Given the description of an element on the screen output the (x, y) to click on. 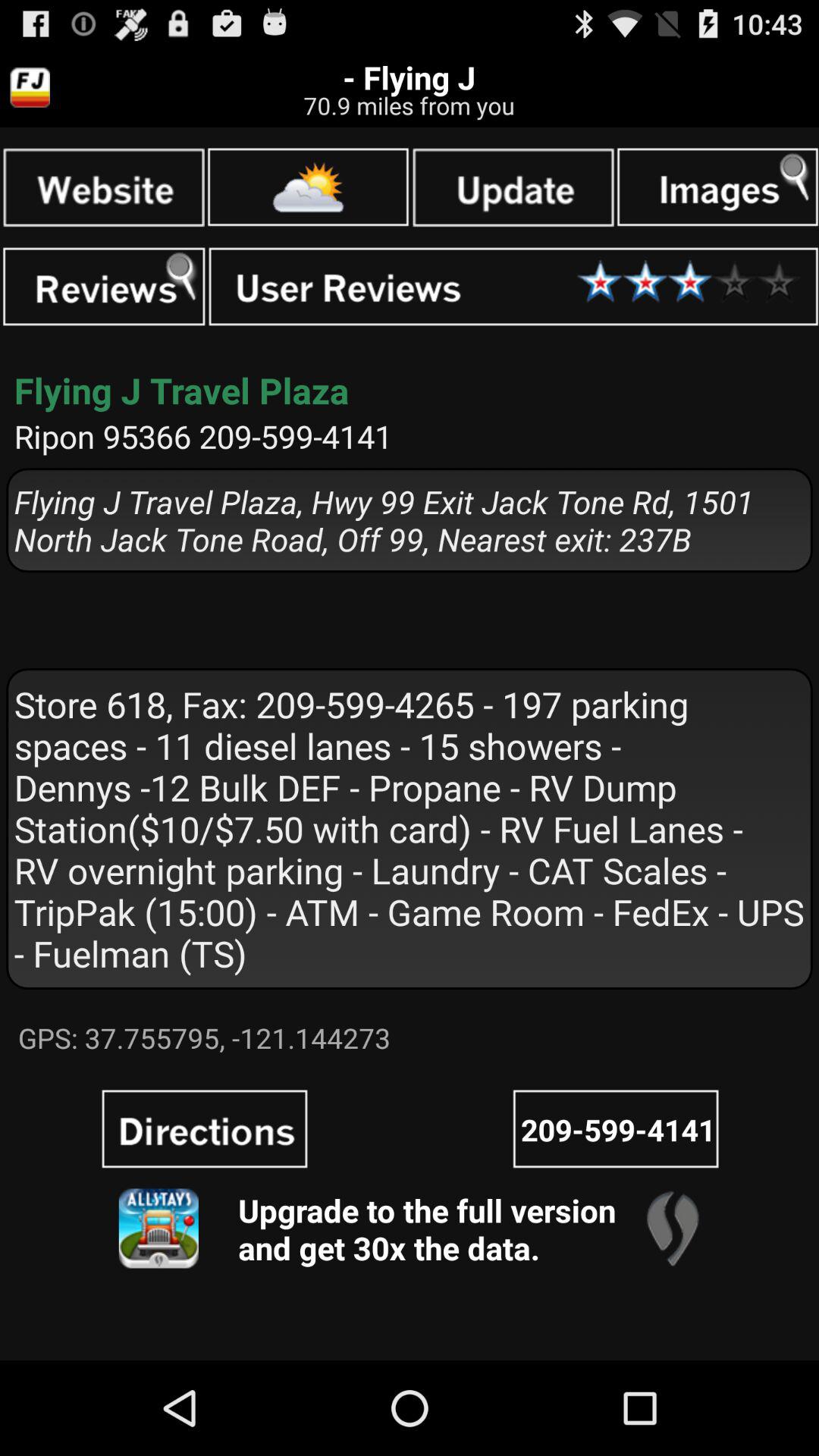
user review rated three out of five stars (513, 286)
